Given the description of an element on the screen output the (x, y) to click on. 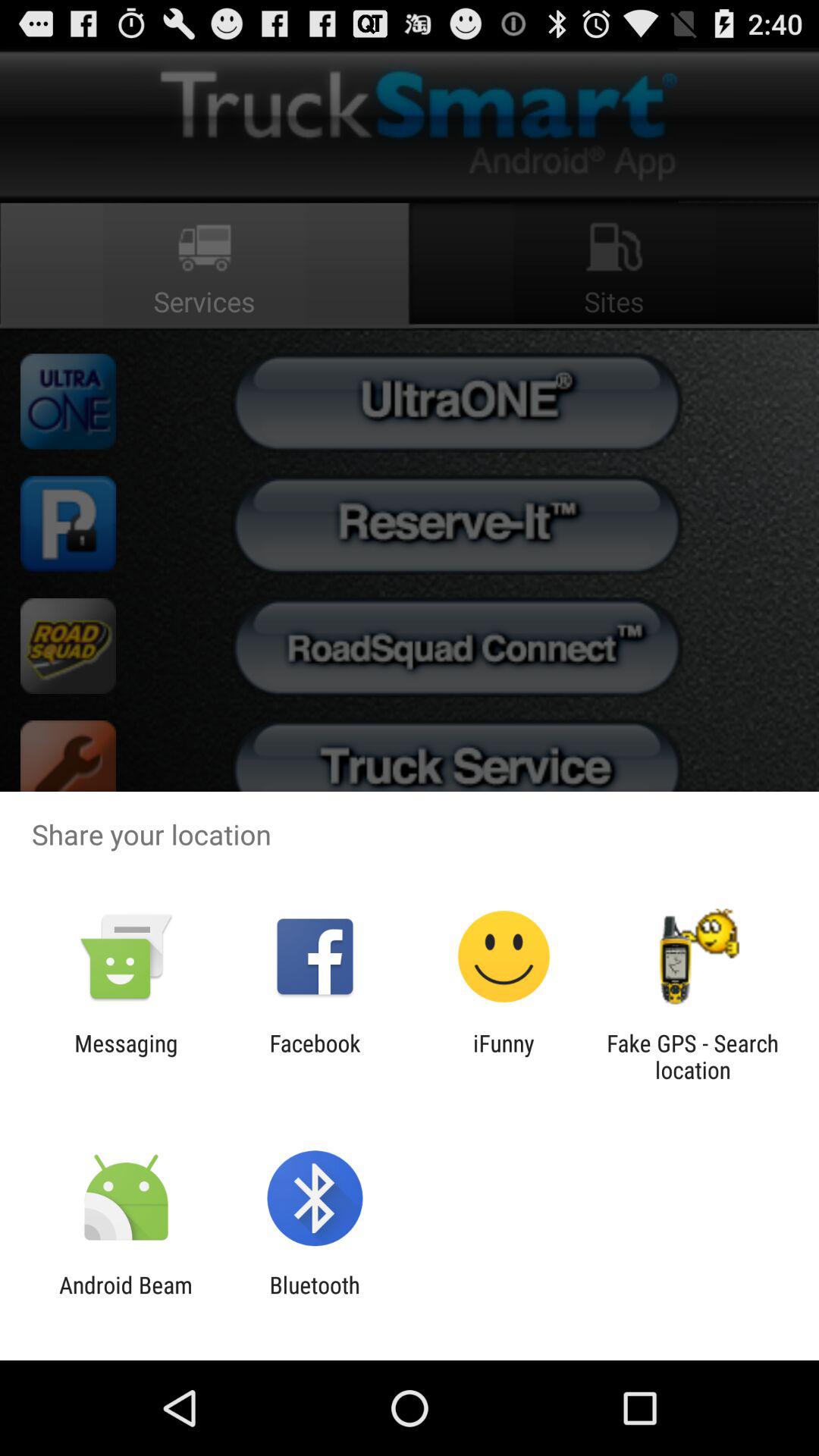
press the app next to the fake gps search app (503, 1056)
